Given the description of an element on the screen output the (x, y) to click on. 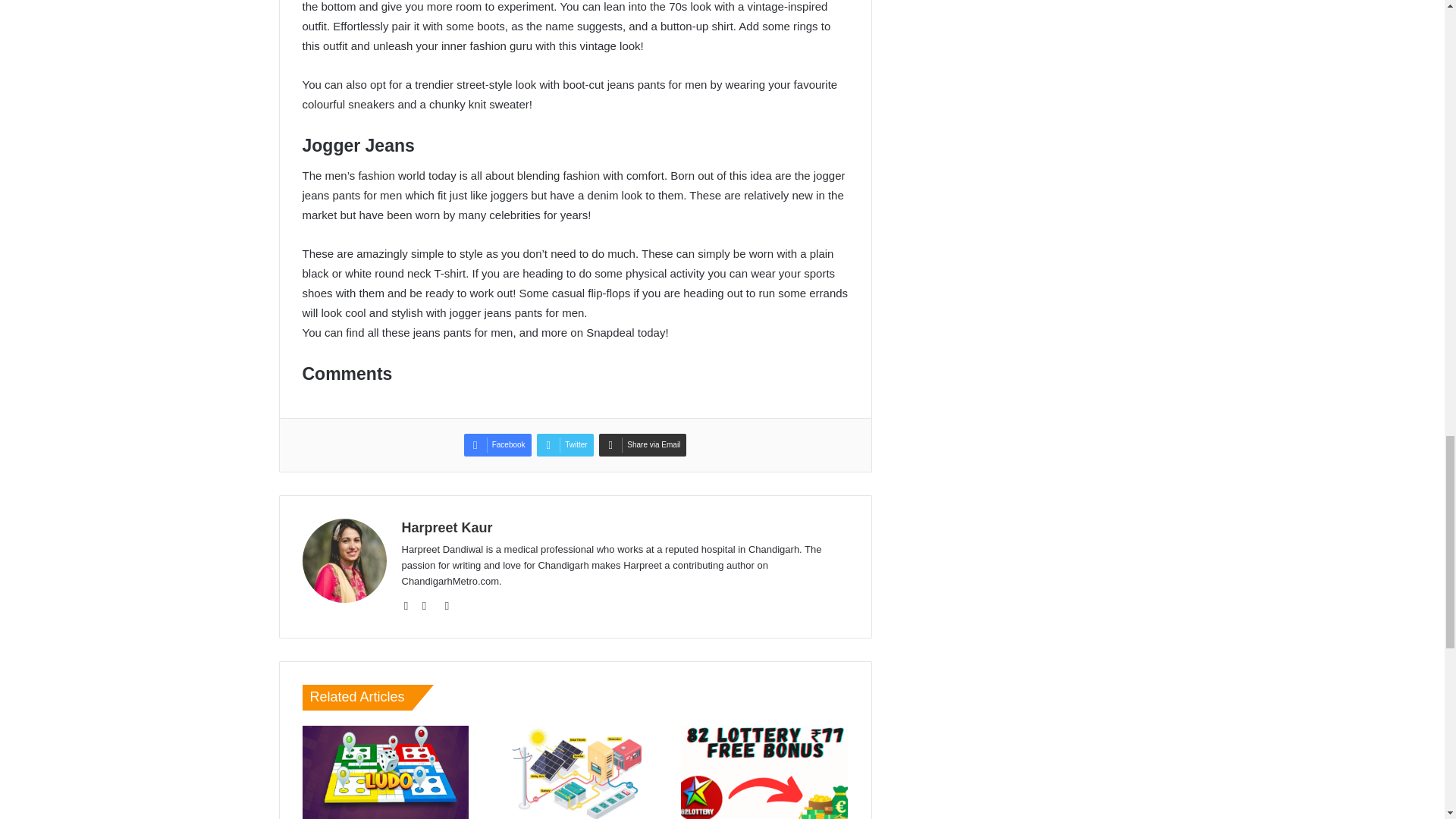
Twitter (564, 445)
Facebook (497, 445)
Facebook (497, 445)
Share via Email (641, 445)
Twitter (564, 445)
Share via Email (641, 445)
